Given the description of an element on the screen output the (x, y) to click on. 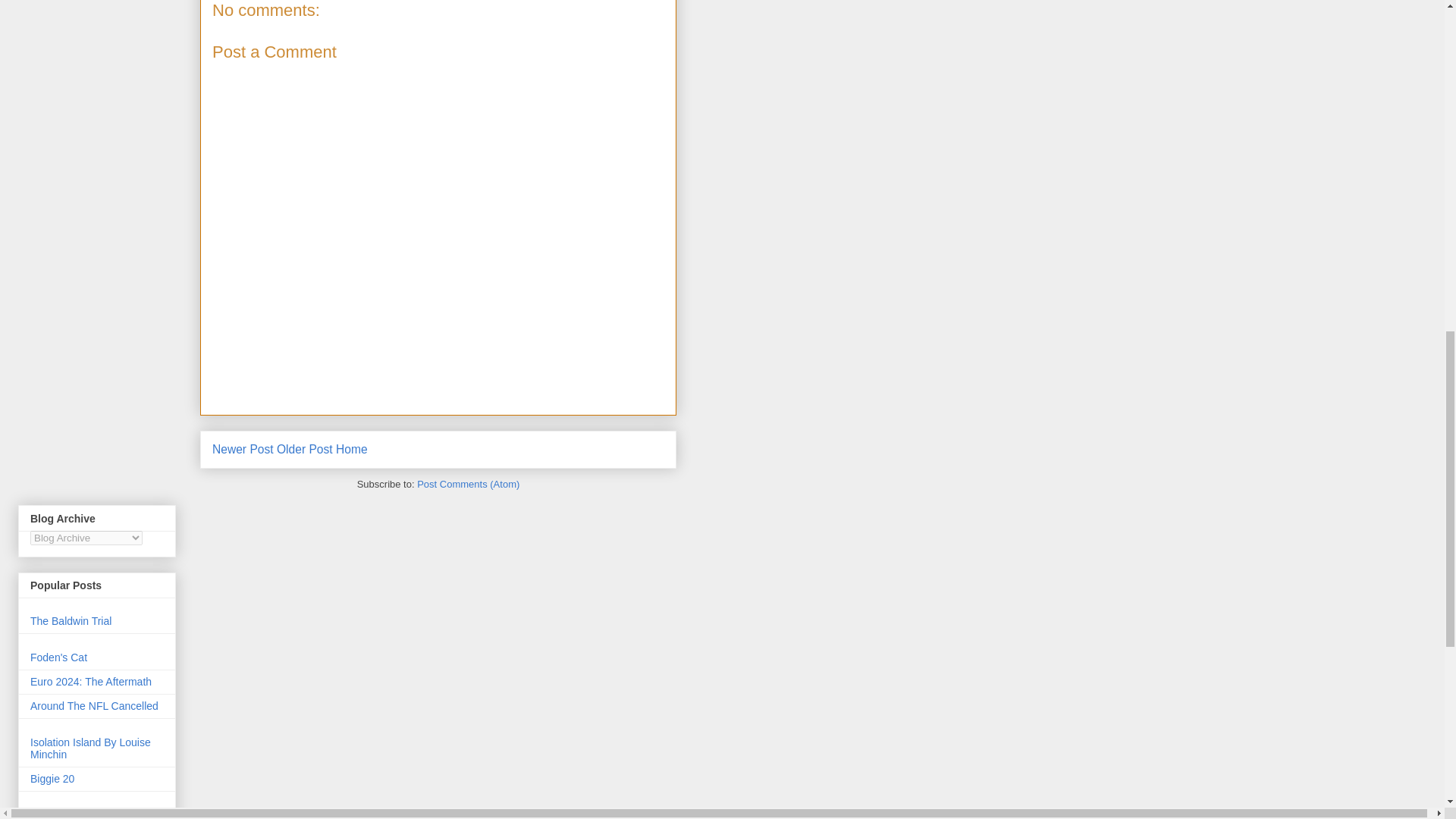
Around The NFL Cancelled (94, 705)
Home (352, 449)
The Baldwin Trial (71, 621)
Isolation Island By Louise Minchin (90, 748)
Newer Post (242, 449)
Older Post (304, 449)
Biggie 20 (52, 778)
The Final (52, 814)
Euro 2024: The Aftermath (90, 681)
Foden's Cat (58, 657)
Older Post (304, 449)
Newer Post (242, 449)
